Given the description of an element on the screen output the (x, y) to click on. 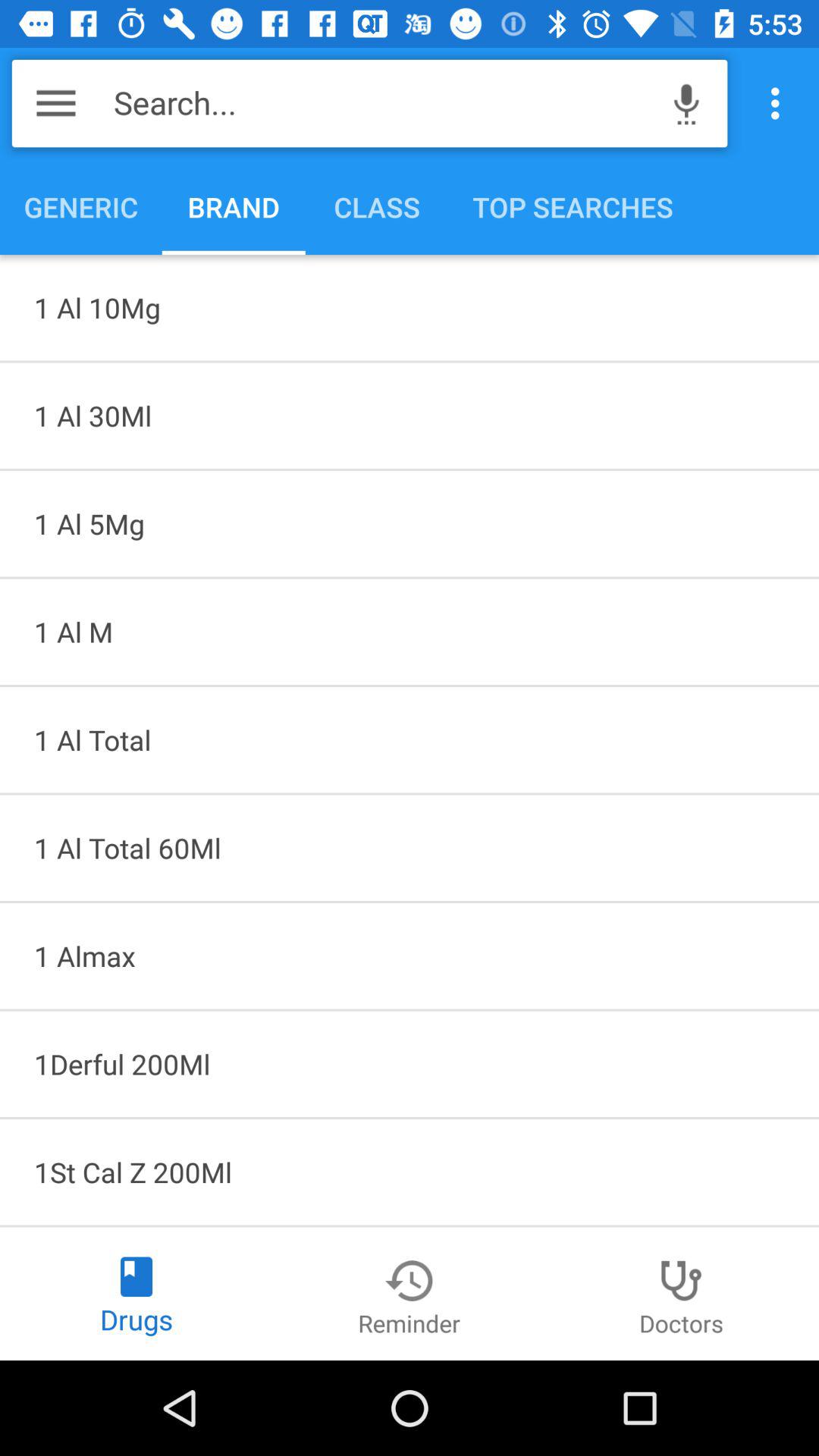
turn on the 1st cal z icon (409, 1171)
